Given the description of an element on the screen output the (x, y) to click on. 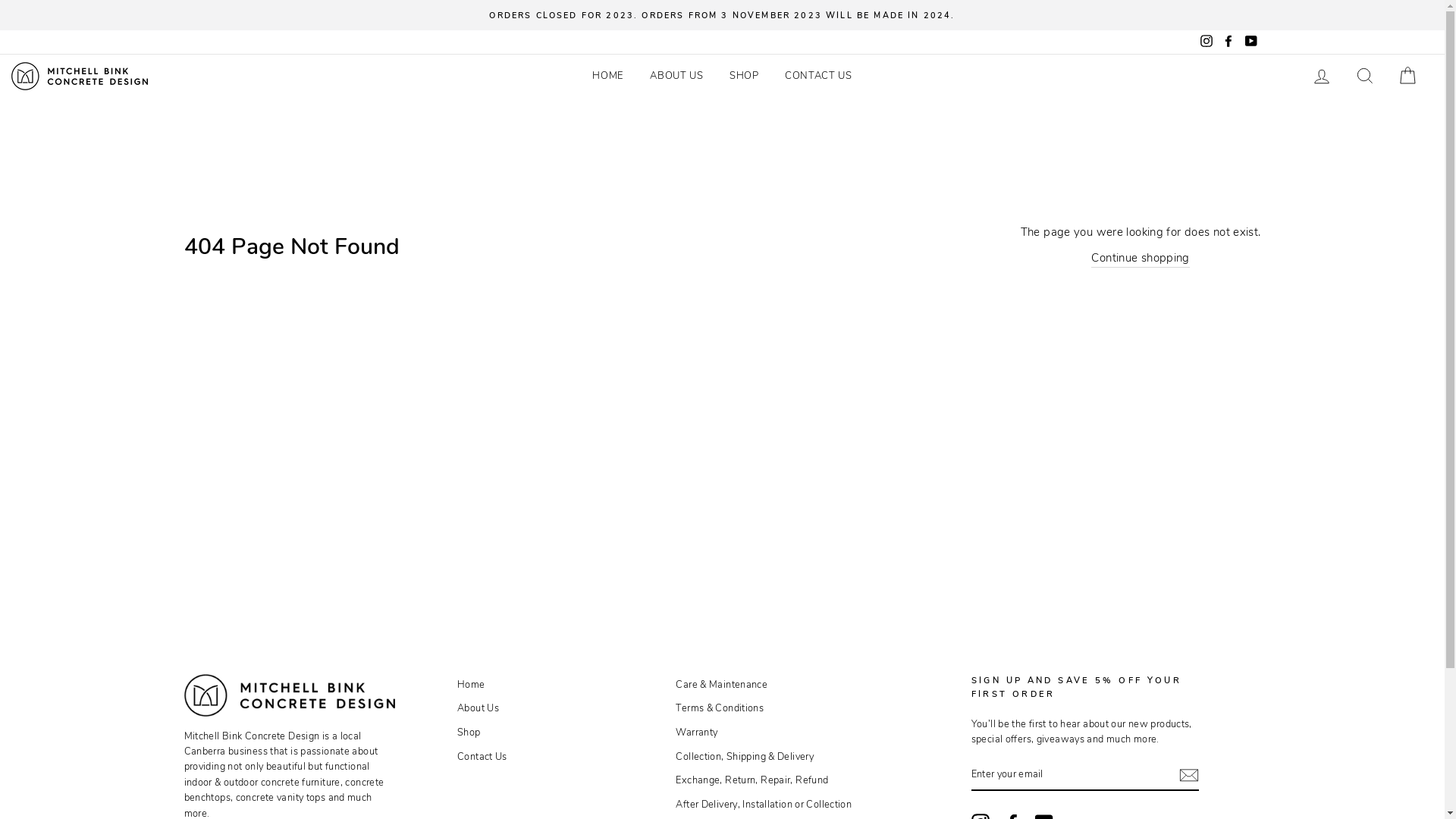
CART Element type: text (1407, 75)
Exchange, Return, Repair, Refund Element type: text (751, 779)
After Delivery, Installation or Collection Element type: text (763, 804)
Facebook Element type: text (1228, 41)
Instagram Element type: text (1206, 41)
YouTube Element type: text (1250, 41)
HOME Element type: text (607, 75)
Home Element type: text (471, 684)
CONTACT US Element type: text (818, 75)
ABOUT US Element type: text (676, 75)
SHOP Element type: text (744, 75)
Care & Maintenance Element type: text (721, 684)
Skip to content Element type: text (0, 0)
Collection, Shipping & Delivery Element type: text (744, 756)
Continue shopping Element type: text (1140, 257)
SEARCH Element type: text (1364, 75)
About Us Element type: text (477, 707)
Terms & Conditions Element type: text (719, 707)
LOG IN Element type: text (1321, 75)
Warranty Element type: text (696, 732)
Shop Element type: text (468, 732)
Contact Us Element type: text (482, 756)
